Given the description of an element on the screen output the (x, y) to click on. 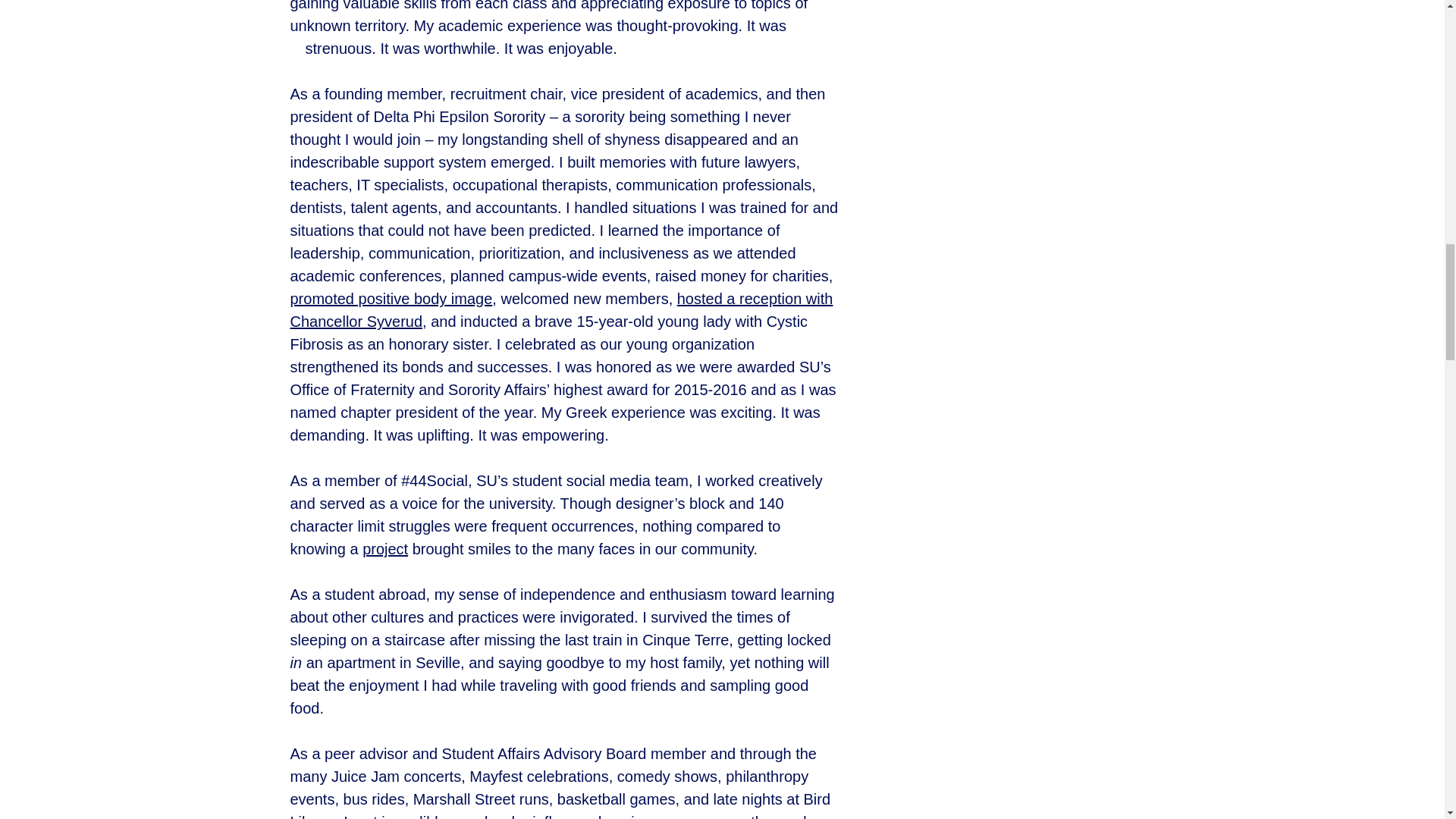
project (384, 548)
hosted a reception with Chancellor Syverud (560, 310)
promoted positive body image (390, 298)
